Given the description of an element on the screen output the (x, y) to click on. 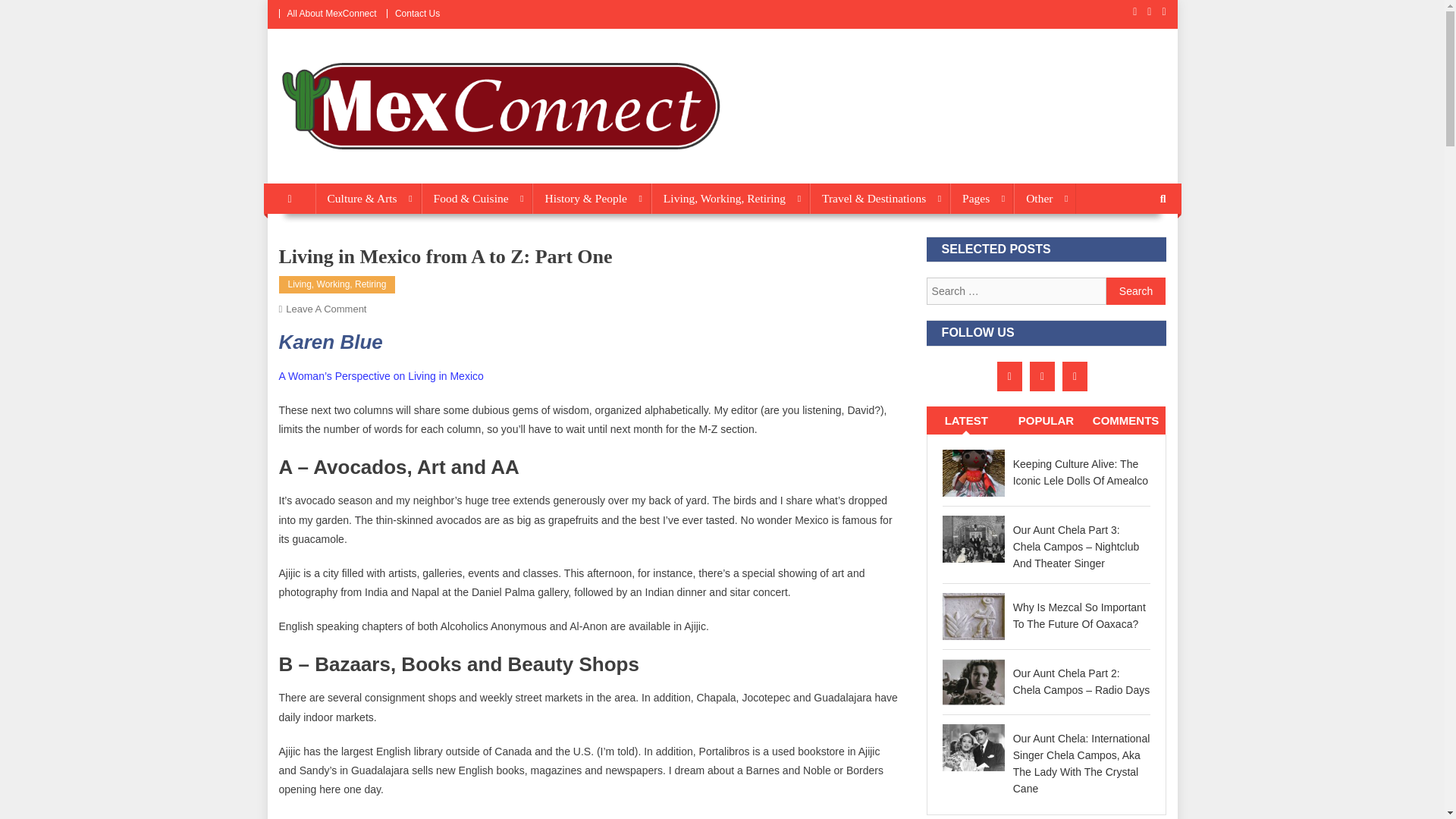
Living, Working, Retiring (729, 198)
All About MexConnect (330, 13)
MexConnect (344, 167)
Search (1136, 290)
Search (1136, 290)
Contact Us (416, 13)
